Given the description of an element on the screen output the (x, y) to click on. 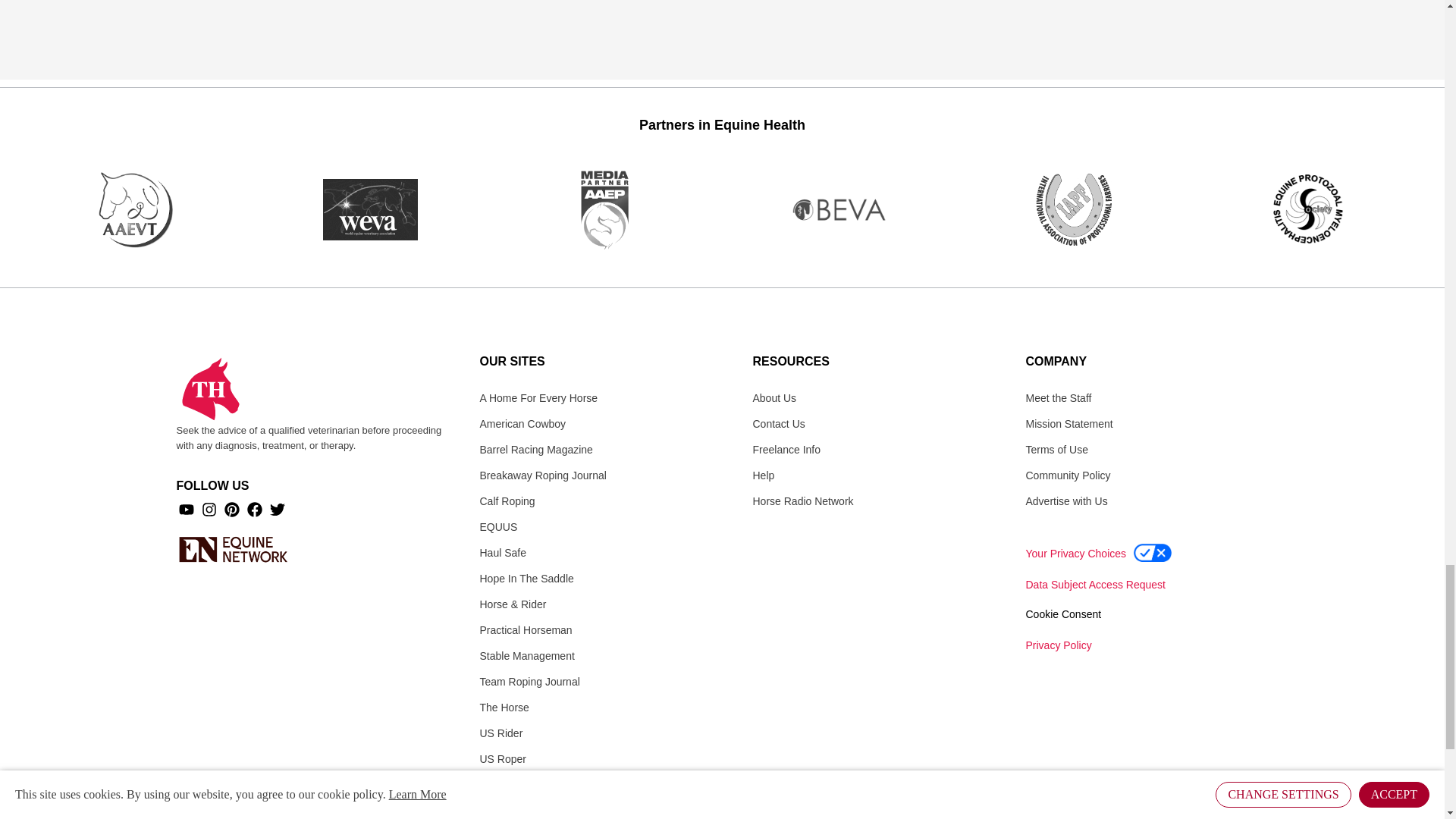
3rd party ad content (721, 38)
